Given the description of an element on the screen output the (x, y) to click on. 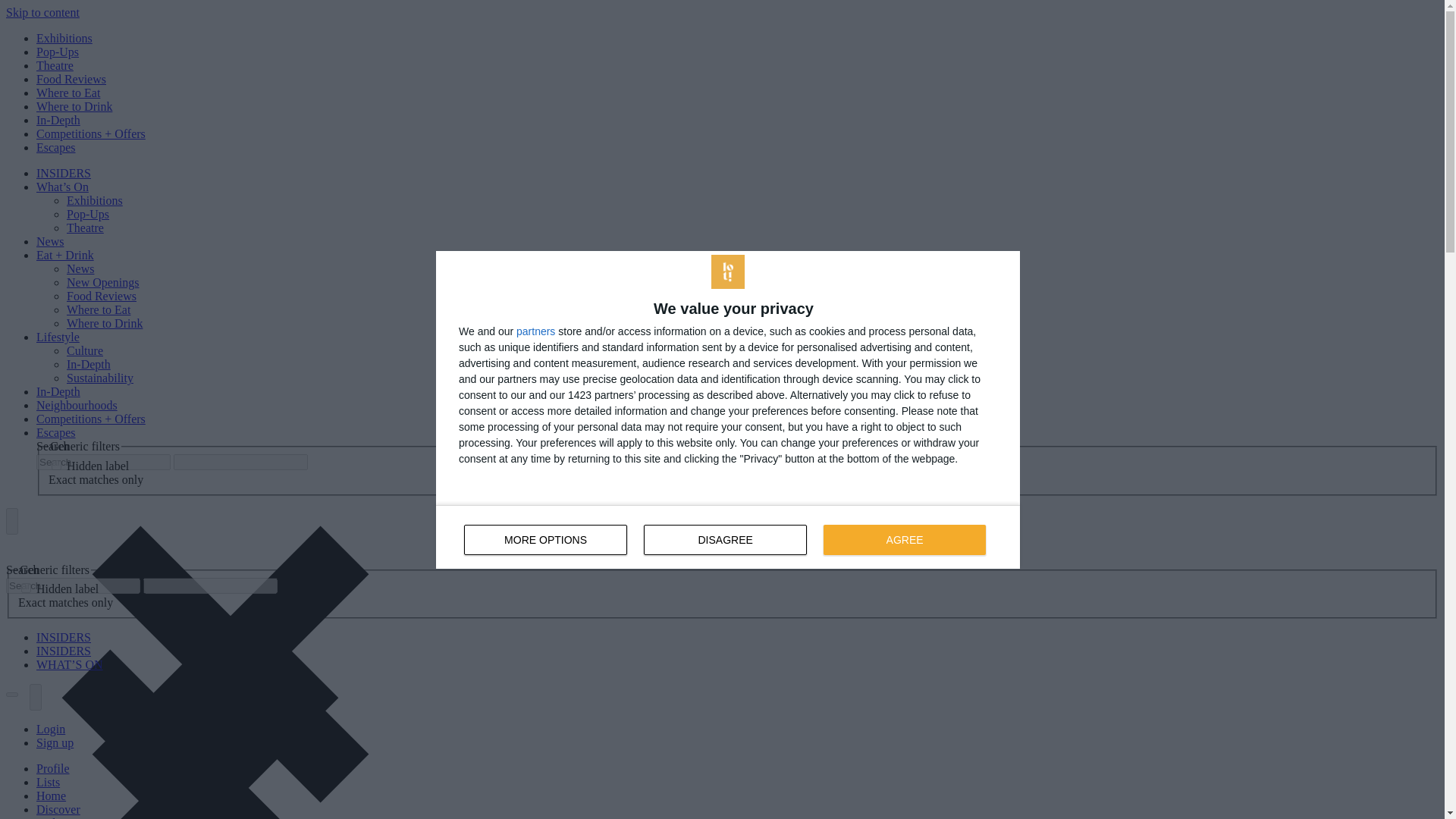
INSIDERS (63, 650)
Exhibitions (64, 38)
Neighbourhoods (76, 404)
In-Depth (58, 391)
exact (55, 465)
INSIDERS (63, 636)
In-Depth (58, 119)
Theatre (727, 536)
Escapes (55, 65)
In-Depth (55, 146)
Pop-Ups (88, 364)
Food Reviews (87, 214)
AGREE (71, 78)
New Openings (904, 539)
